Given the description of an element on the screen output the (x, y) to click on. 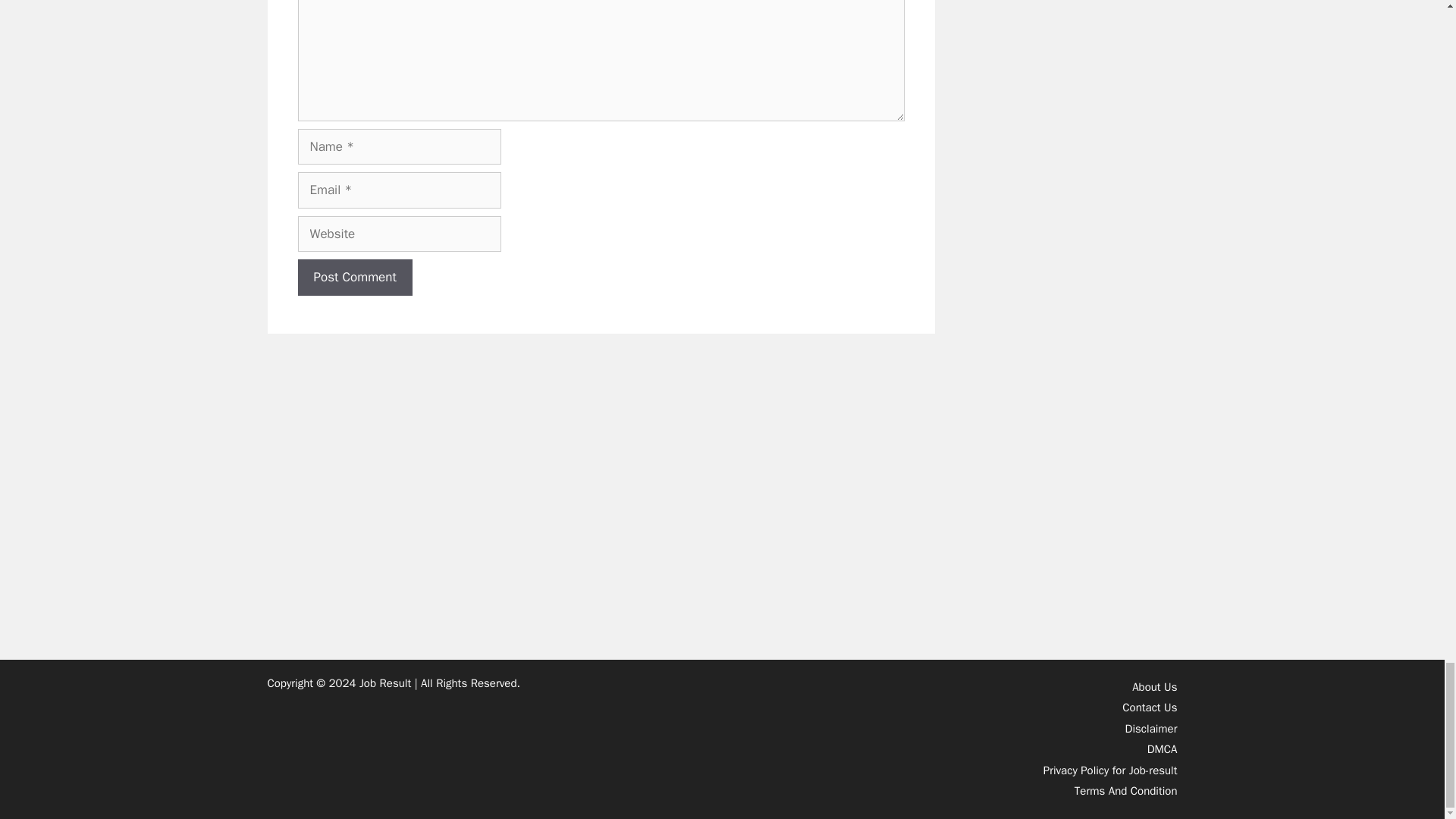
Post Comment (354, 277)
Post Comment (354, 277)
